Given the description of an element on the screen output the (x, y) to click on. 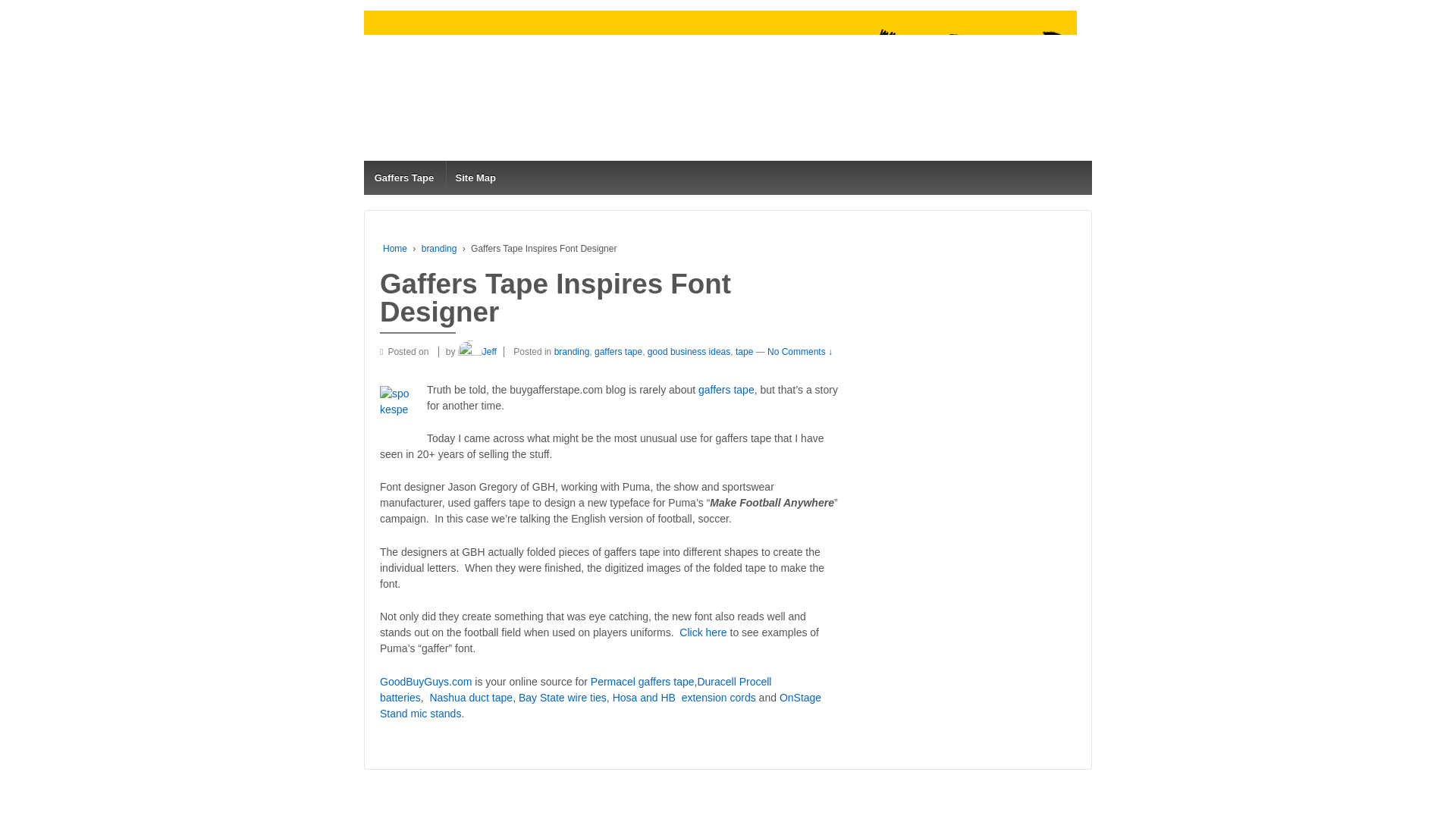
Click here (702, 632)
View all posts by Jeff (477, 351)
tape (743, 351)
GoodBuyGuys.com (425, 681)
gaffers tape (726, 389)
Jeff (477, 351)
OnStage Stand mic stands (600, 705)
branding (571, 351)
Nashua duct tape (470, 697)
Bay State wire ties (562, 697)
gaffers tape (618, 351)
Site Map (475, 177)
good business ideas (688, 351)
Hosa and HB  extension cords (683, 697)
Permacel gaffers tape (642, 681)
